Given the description of an element on the screen output the (x, y) to click on. 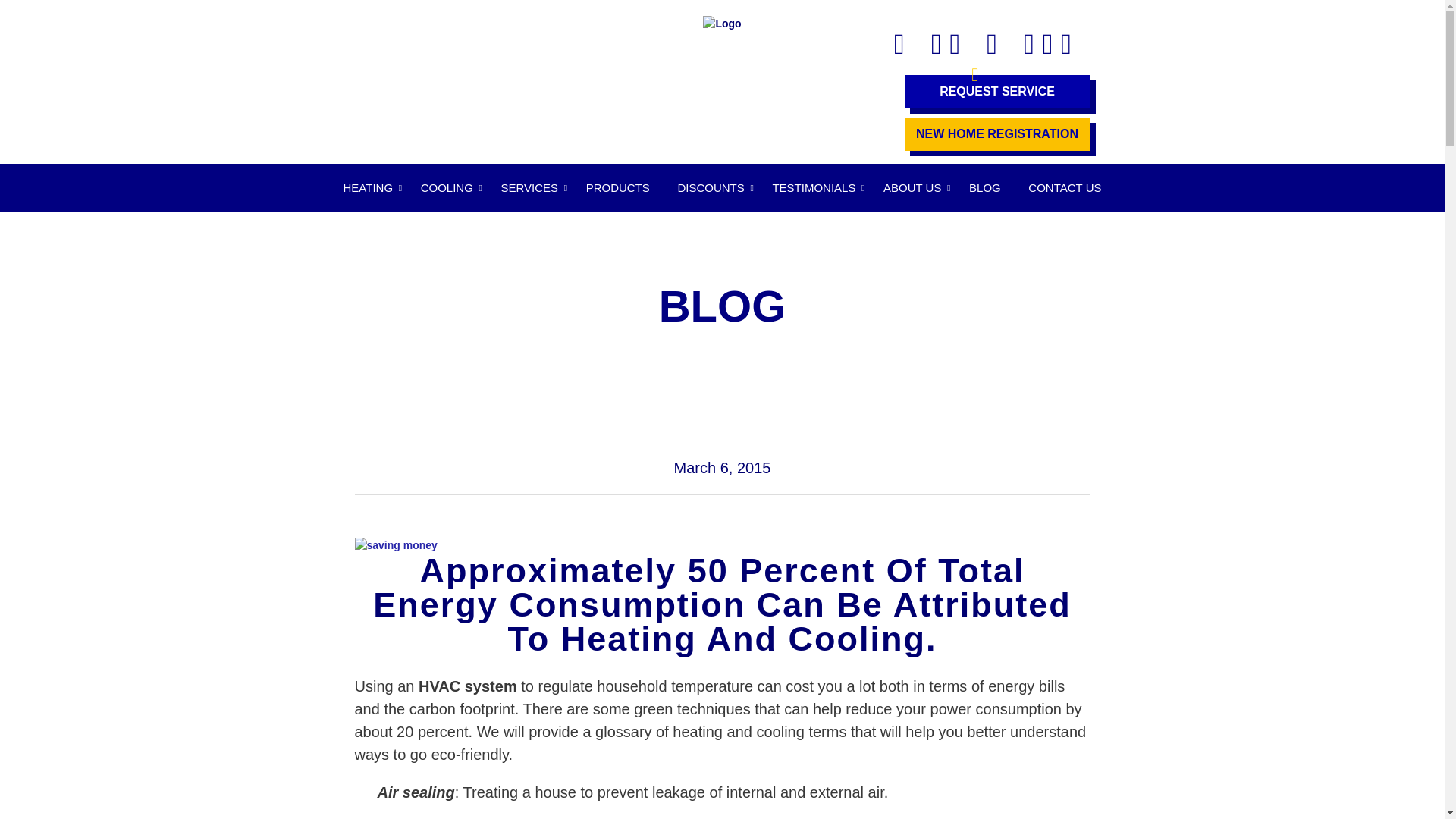
HEATING (367, 187)
NEW HOME REGISTRATION (996, 133)
REQUEST SERVICE (996, 91)
SERVICES (528, 187)
COOLING (446, 187)
